Given the description of an element on the screen output the (x, y) to click on. 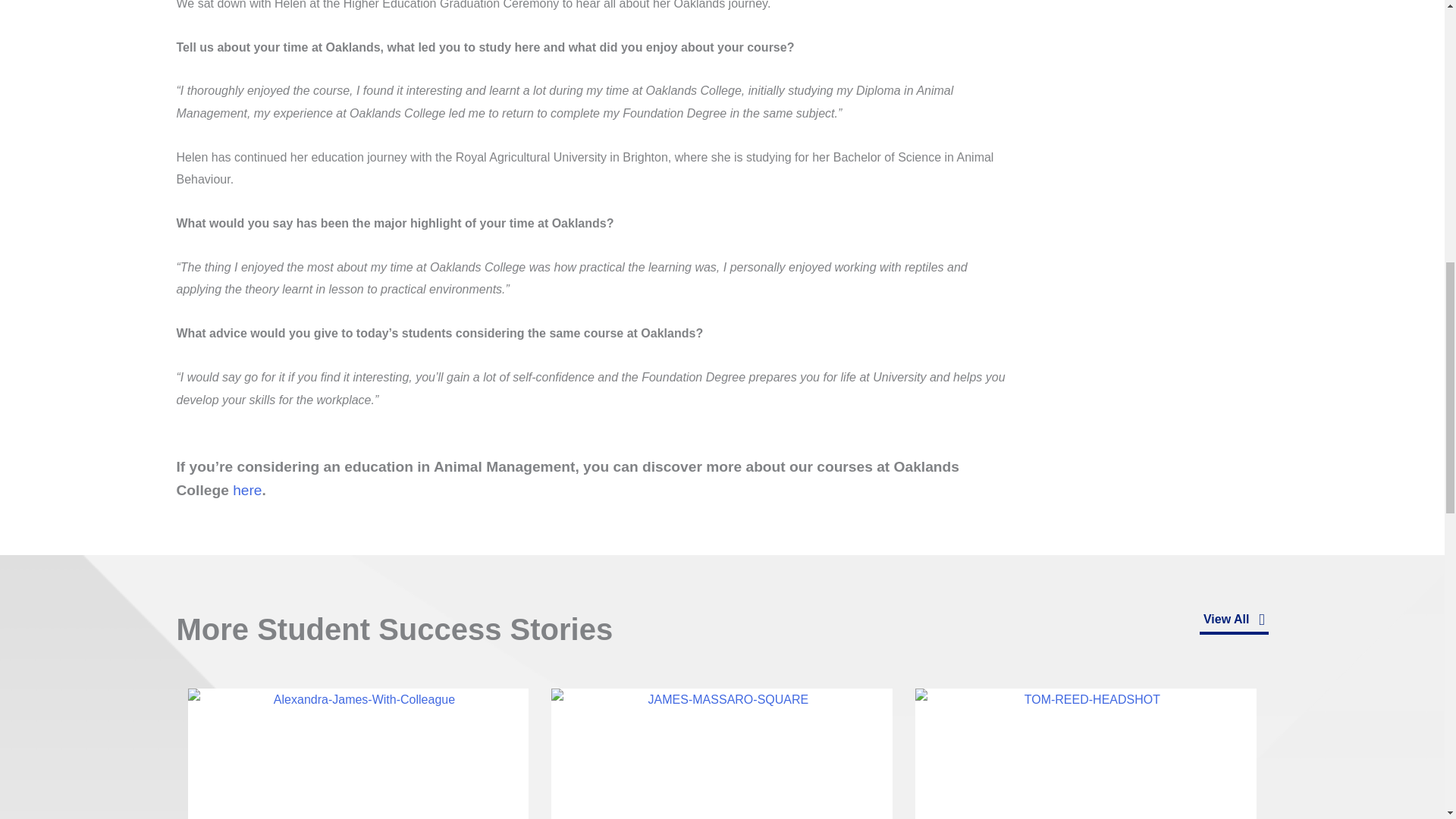
Click Here (1233, 621)
